Given the description of an element on the screen output the (x, y) to click on. 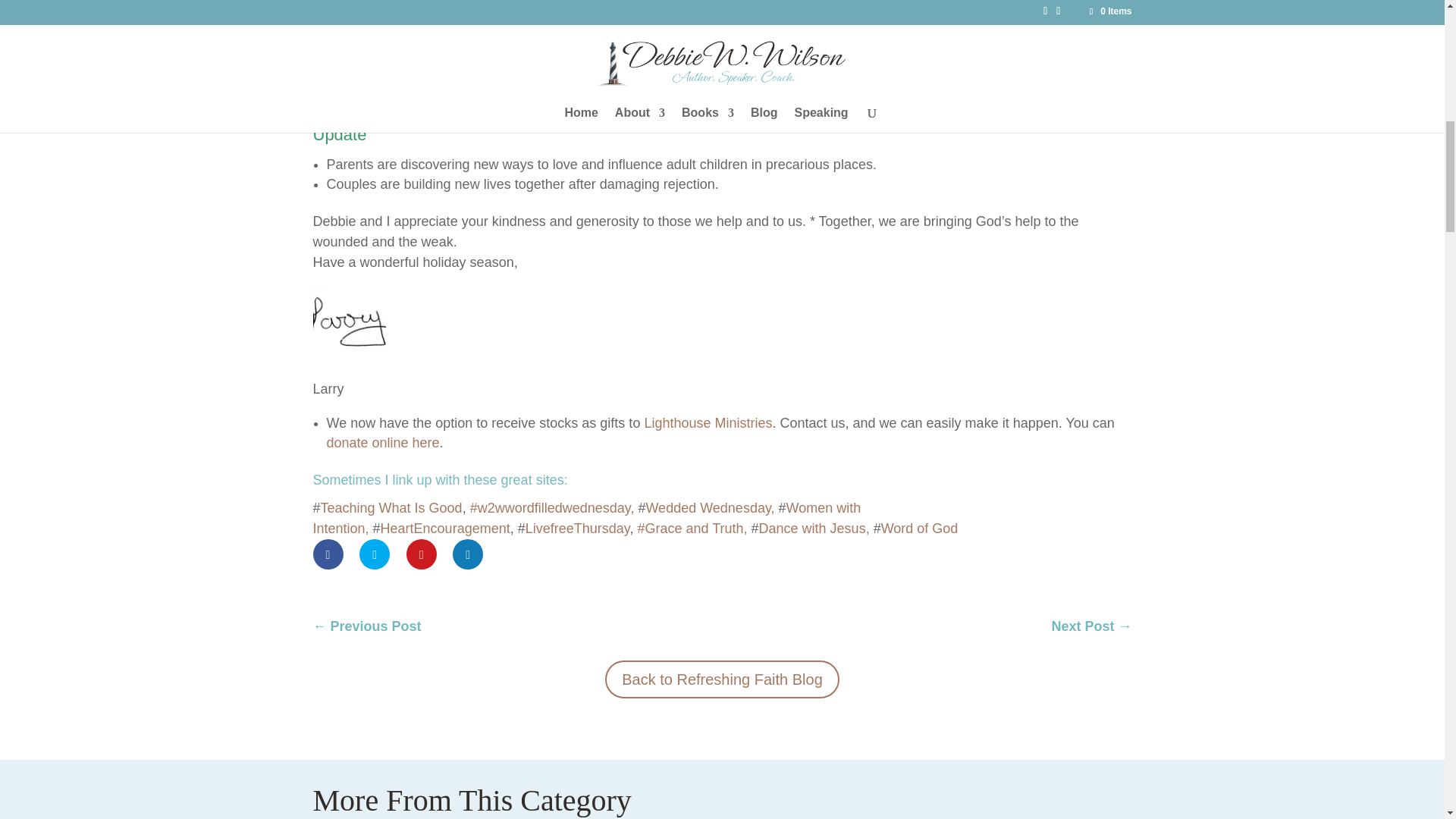
Lighthouse Ministries (707, 422)
Wedded Wednesday,  (711, 507)
Teaching What Is Good (391, 507)
Word of God (919, 528)
donate online here (382, 442)
LivefreeThursday (577, 528)
HeartEncouragement (445, 528)
Women with Intention, (586, 518)
Dance with Jesus, (813, 528)
